Given the description of an element on the screen output the (x, y) to click on. 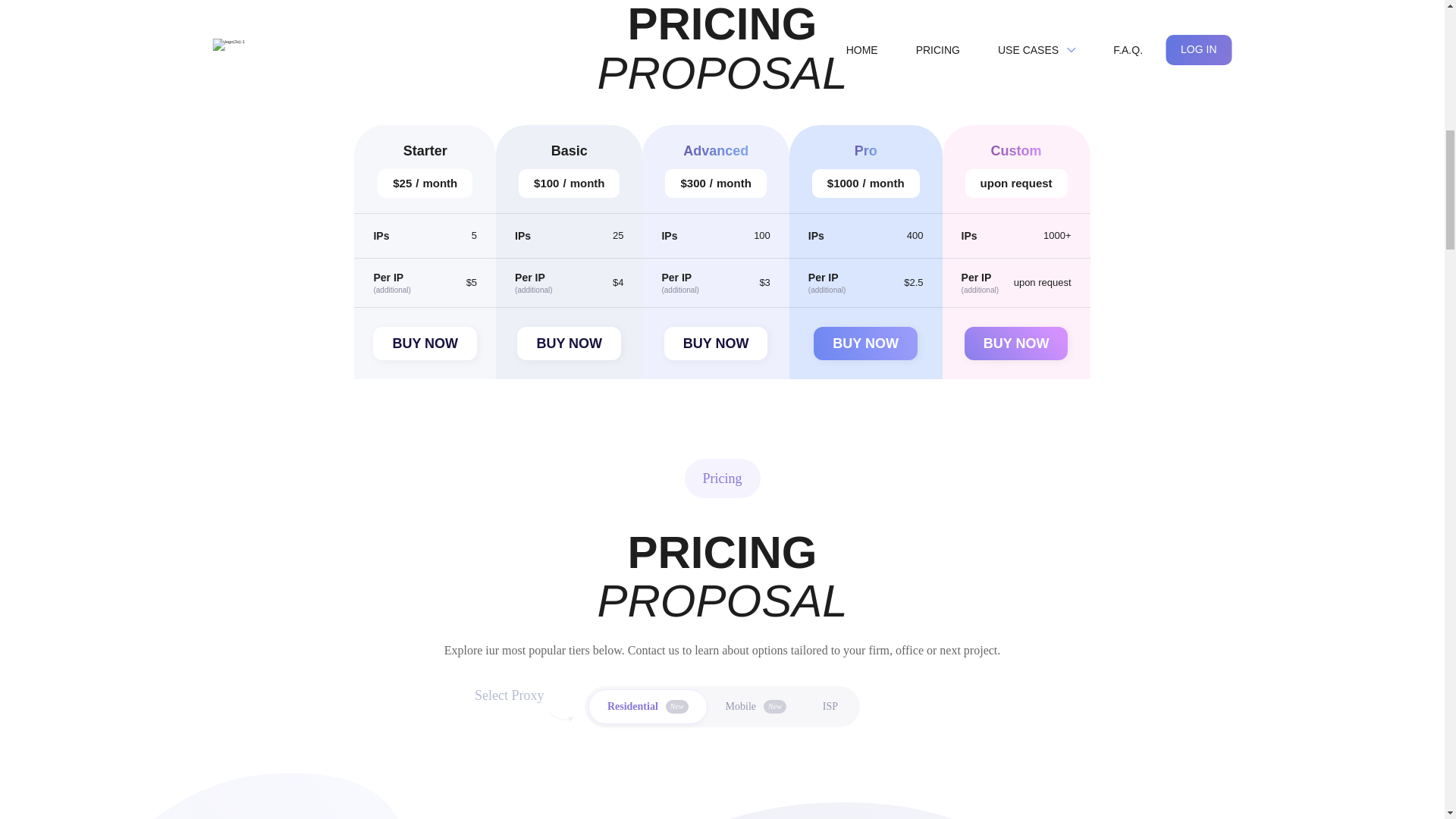
BUY NOW (865, 343)
BUY NOW (568, 343)
BUY NOW (424, 343)
BUY NOW (1015, 343)
BUY NOW (715, 343)
